Given the description of an element on the screen output the (x, y) to click on. 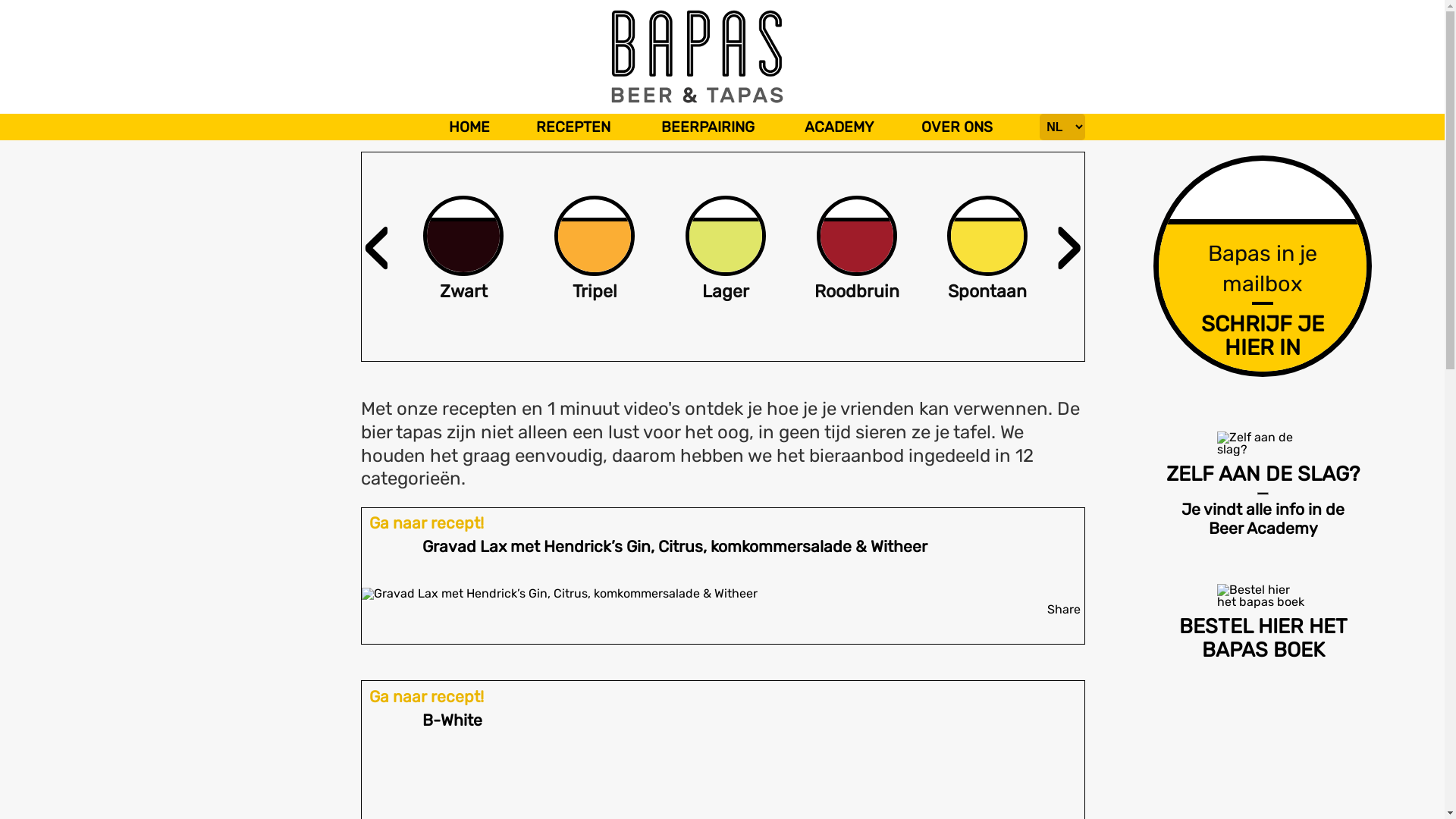
Share Element type: text (1063, 609)
HOME Element type: text (469, 126)
Ga naar recept! Element type: text (426, 696)
Ga naar recept! Element type: text (426, 522)
BESTEL HIER HET BAPAS BOEK Element type: text (1271, 620)
ZELF AAN DE SLAG?
Je vindt alle info in de Beer Academy Element type: text (1271, 483)
ACADEMY Element type: text (838, 126)
SCHRIJF JE HIER IN Element type: text (1262, 335)
OVER ONS Element type: text (957, 126)
RECEPTEN Element type: text (572, 126)
BEERPAIRING Element type: text (707, 126)
